Given the description of an element on the screen output the (x, y) to click on. 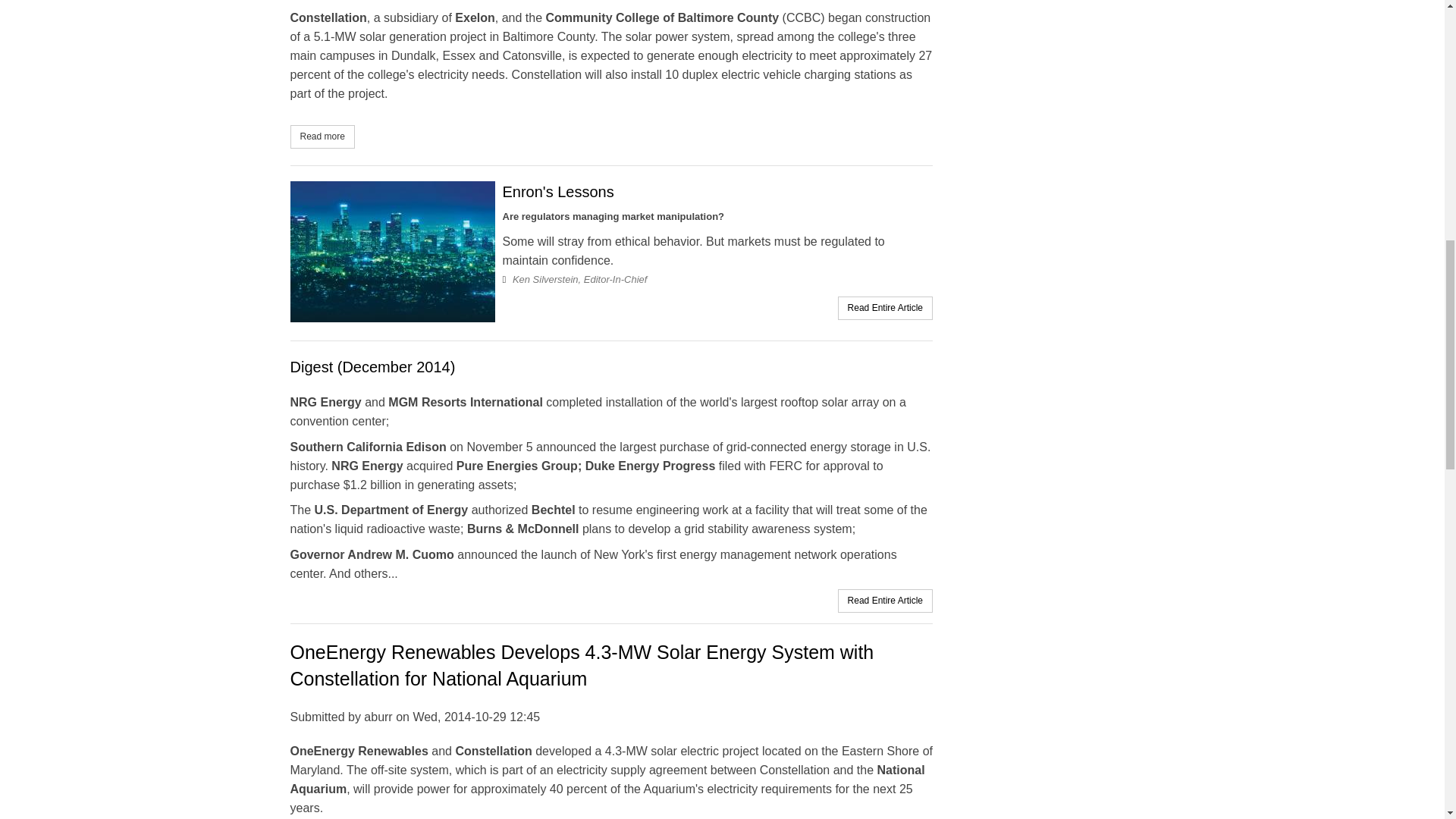
Enron's Lessons (557, 191)
Read Entire Article (885, 307)
Read Entire Article (885, 600)
